Given the description of an element on the screen output the (x, y) to click on. 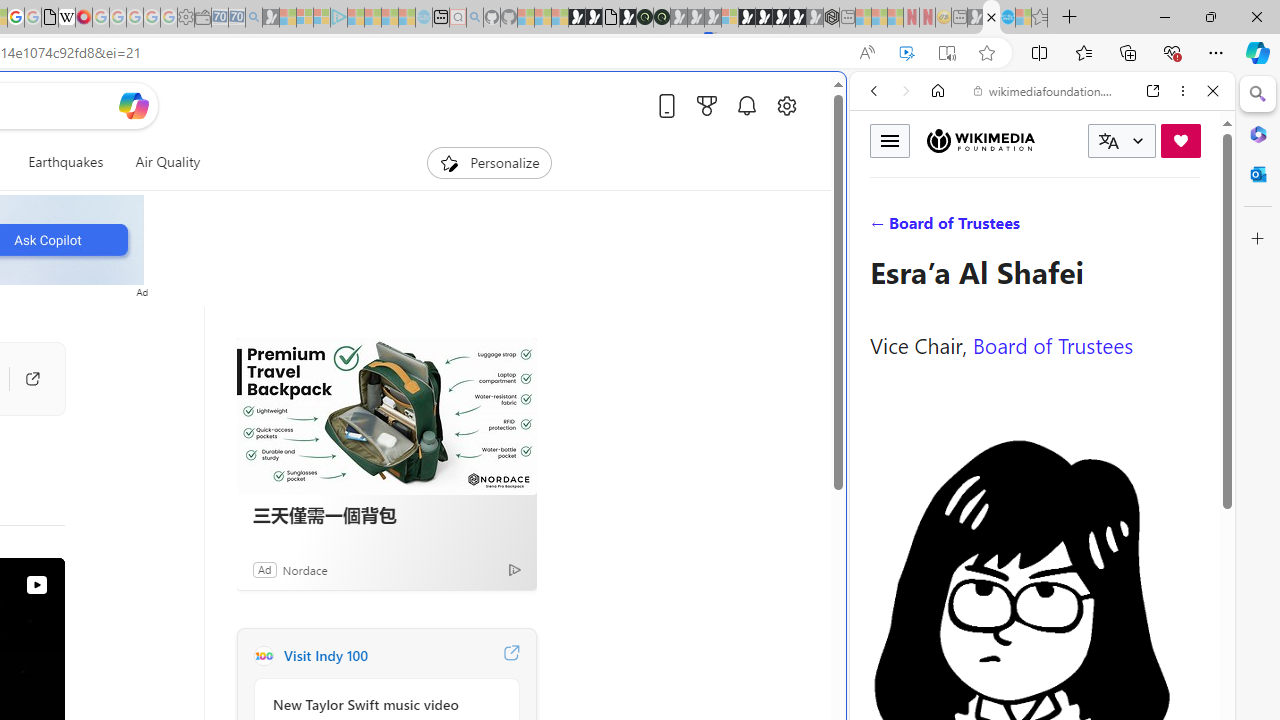
Search or enter web address (343, 191)
Donate now (1180, 140)
